Given the description of an element on the screen output the (x, y) to click on. 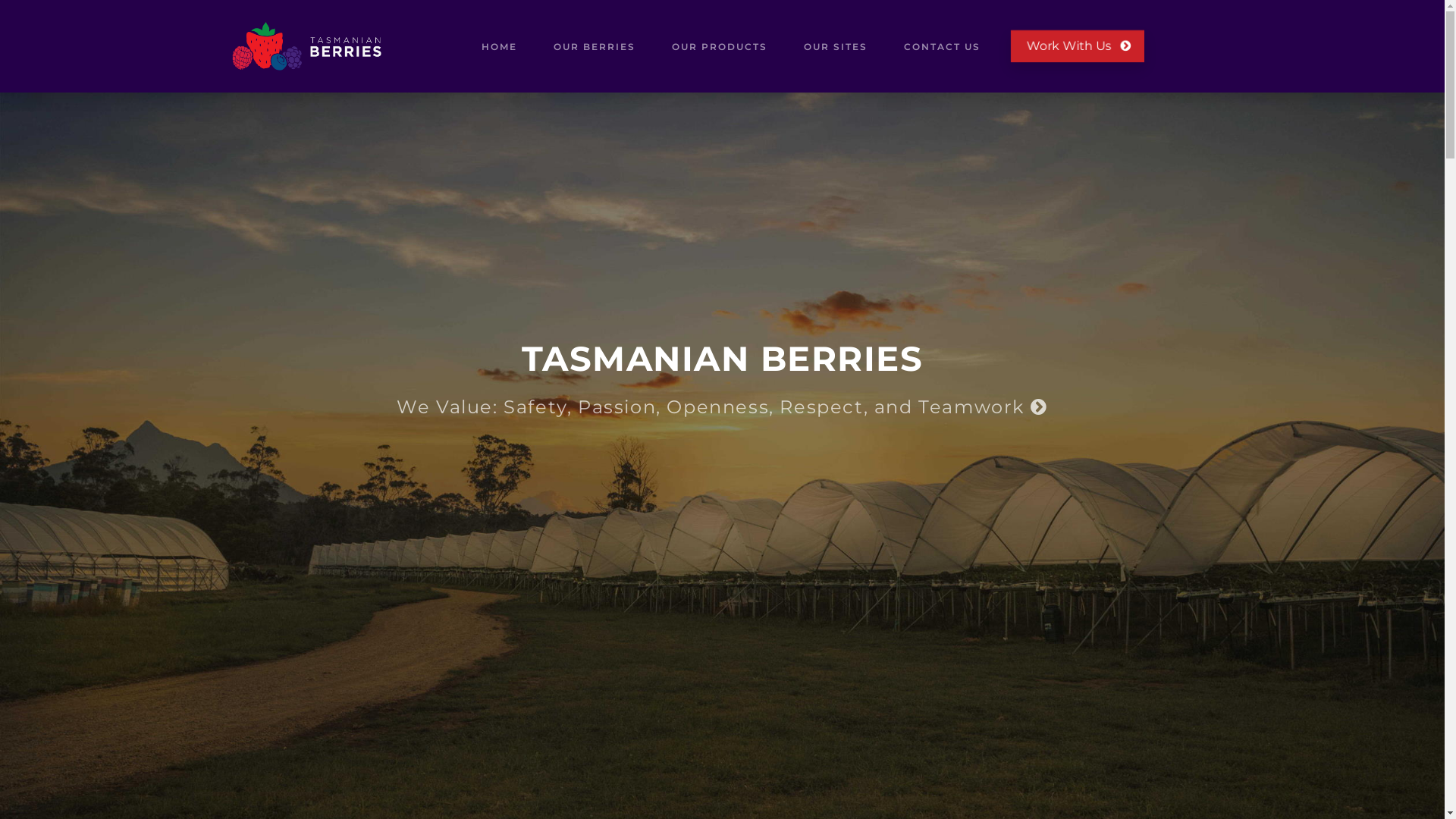
OUR SITES Element type: text (835, 46)
CONTACT US Element type: text (941, 46)
Work With Us Element type: text (1077, 46)
OUR PRODUCTS Element type: text (719, 46)
OUR BERRIES Element type: text (594, 46)
HOME Element type: text (499, 46)
